Given the description of an element on the screen output the (x, y) to click on. 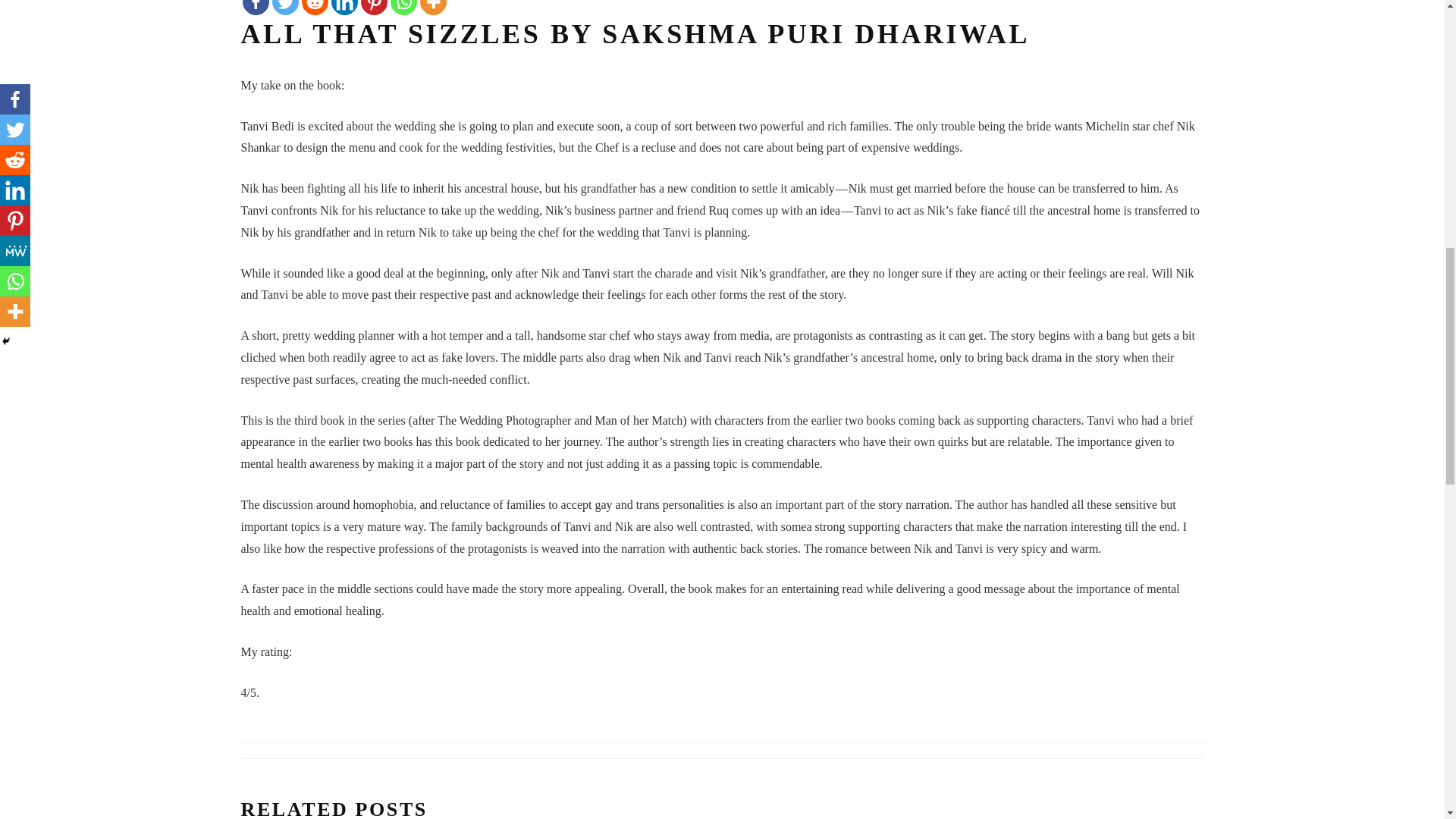
More (433, 7)
Facebook (256, 7)
Pinterest (374, 7)
Whatsapp (403, 7)
Linkedin (343, 7)
Twitter (284, 7)
Reddit (315, 7)
